Given the description of an element on the screen output the (x, y) to click on. 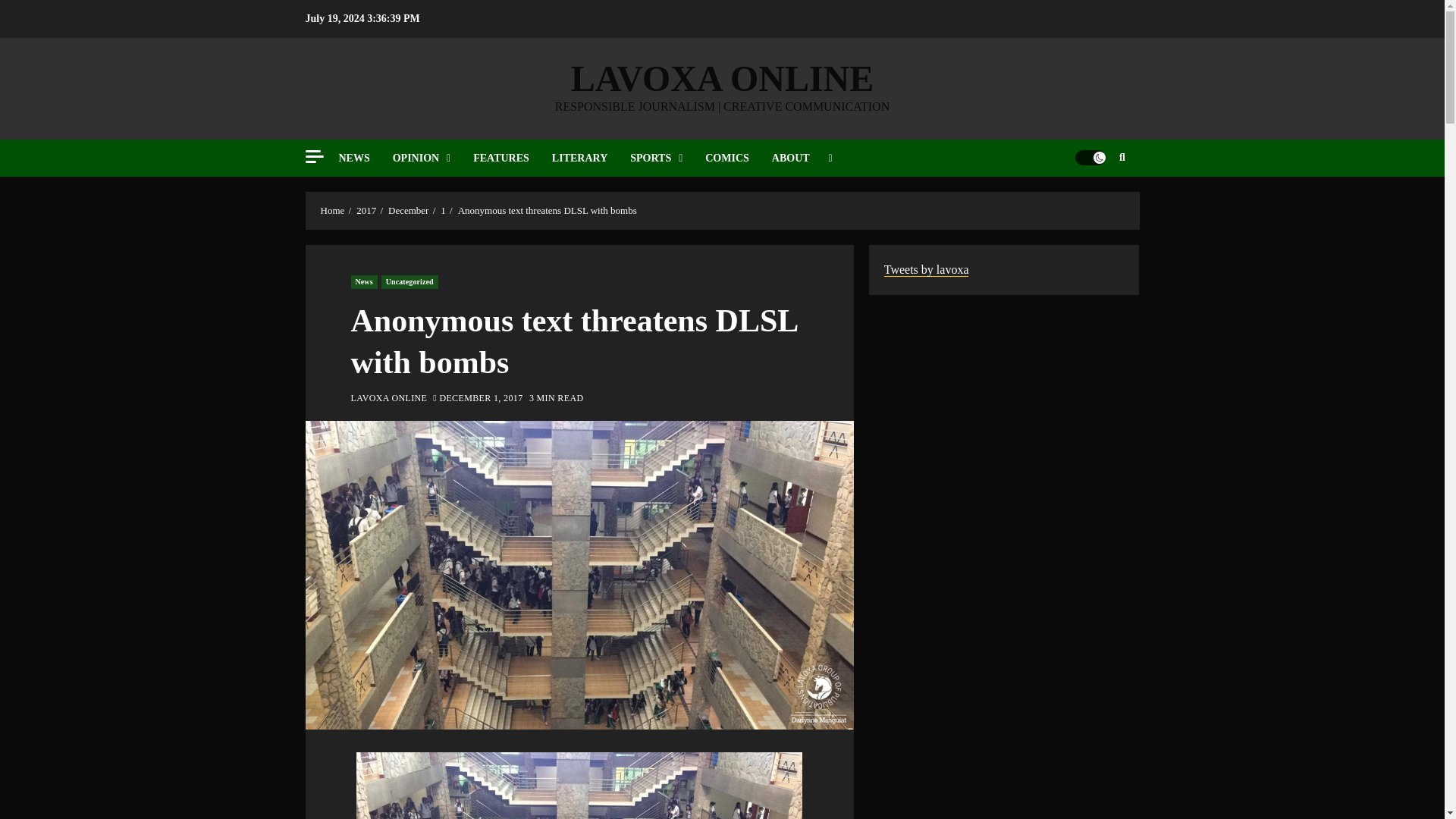
LITERARY (590, 157)
LAVOXA ONLINE (722, 78)
SPORTS (667, 157)
ABOUT (801, 157)
FEATURES (512, 157)
Home (331, 210)
OPINION (433, 157)
NEWS (364, 157)
Search (1092, 203)
COMICS (737, 157)
